Given the description of an element on the screen output the (x, y) to click on. 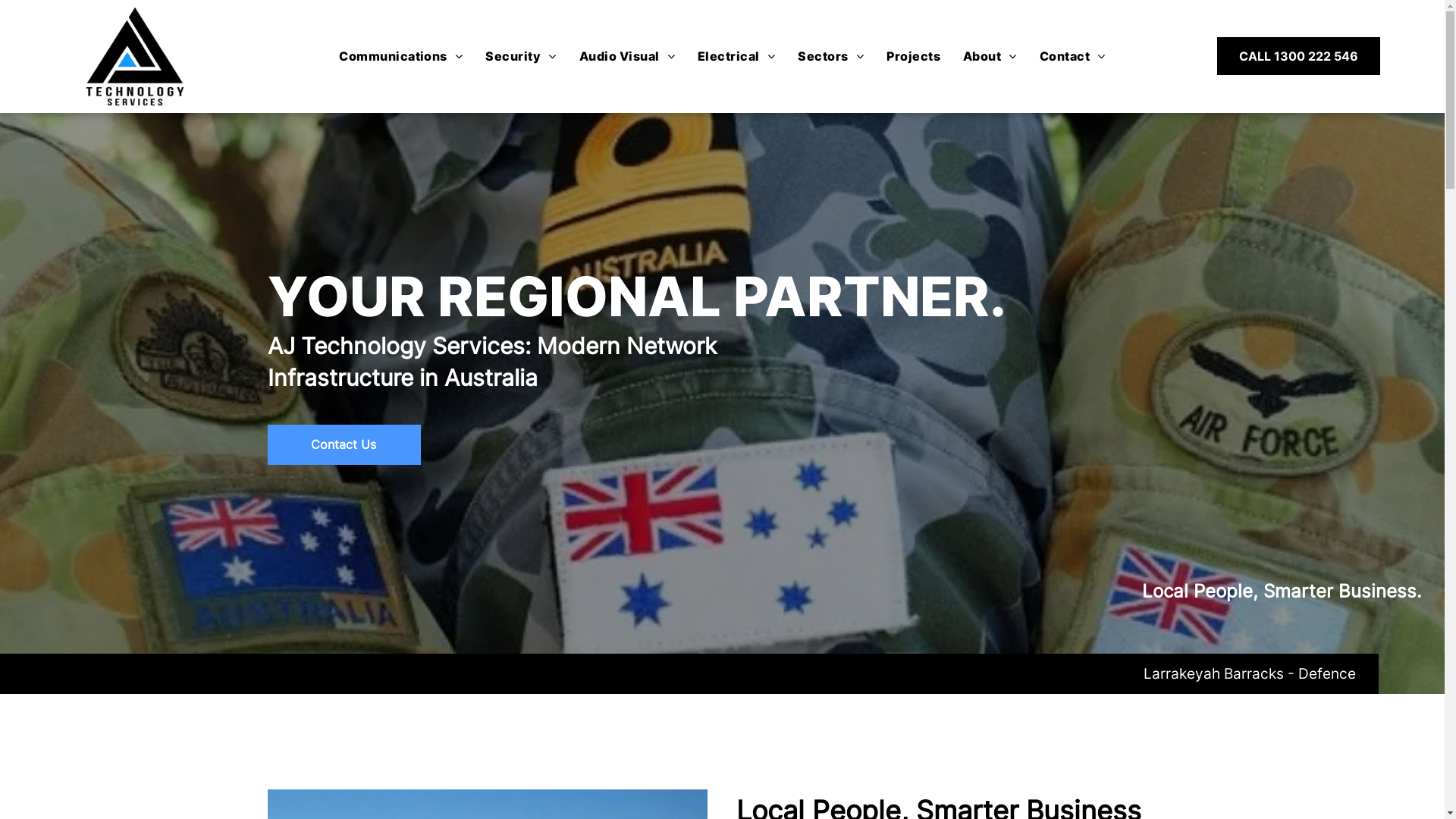
CALL 1300 222 546 Element type: text (1298, 56)
Sectors Element type: text (830, 55)
Contact Element type: text (1072, 55)
About Element type: text (989, 55)
Security Element type: text (520, 55)
Communications Element type: text (400, 55)
Contact Us Element type: text (343, 444)
Electrical Element type: text (736, 55)
Audio Visual Element type: text (626, 55)
Projects Element type: text (913, 55)
